Given the description of an element on the screen output the (x, y) to click on. 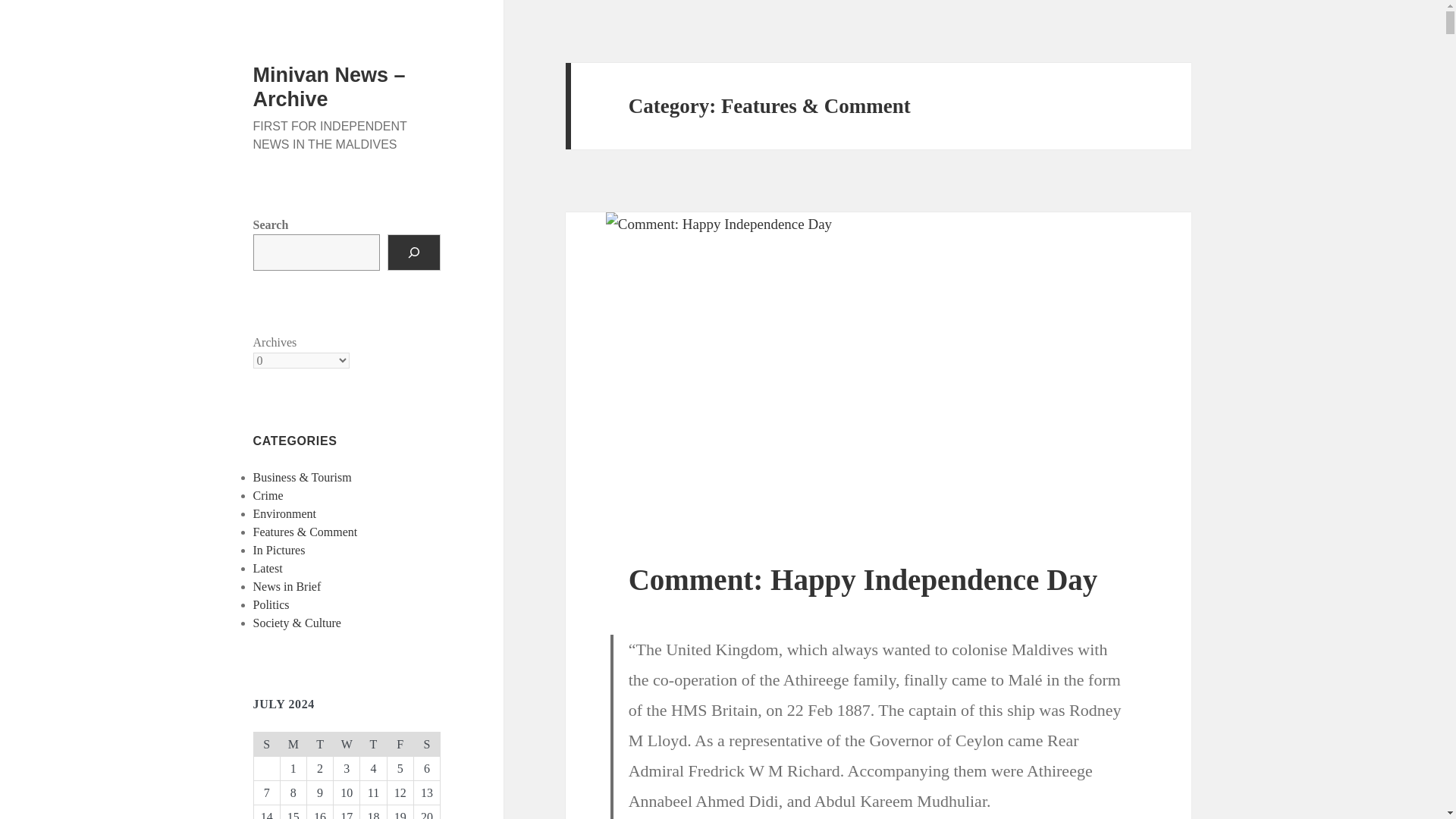
Sunday (266, 743)
Saturday (426, 743)
Environment (285, 513)
In Pictures (279, 549)
Politics (271, 604)
Friday (400, 743)
Wednesday (346, 743)
Monday (292, 743)
Crime (268, 495)
Latest (267, 567)
Tuesday (319, 743)
News in Brief (287, 585)
Comment: Happy Independence Day (862, 579)
Thursday (373, 743)
